Given the description of an element on the screen output the (x, y) to click on. 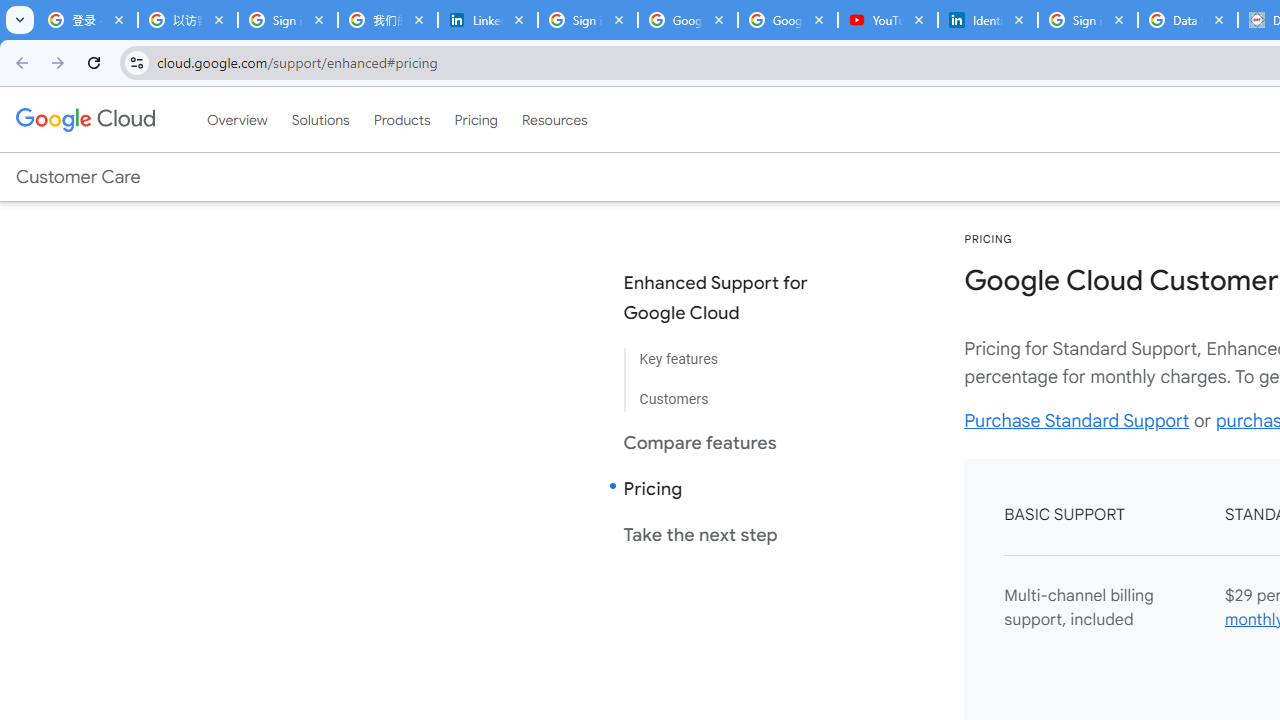
Pricing (476, 119)
Sign in - Google Accounts (587, 20)
Take the next step (732, 534)
Customers (732, 391)
Sign in - Google Accounts (287, 20)
Key features (732, 359)
